Given the description of an element on the screen output the (x, y) to click on. 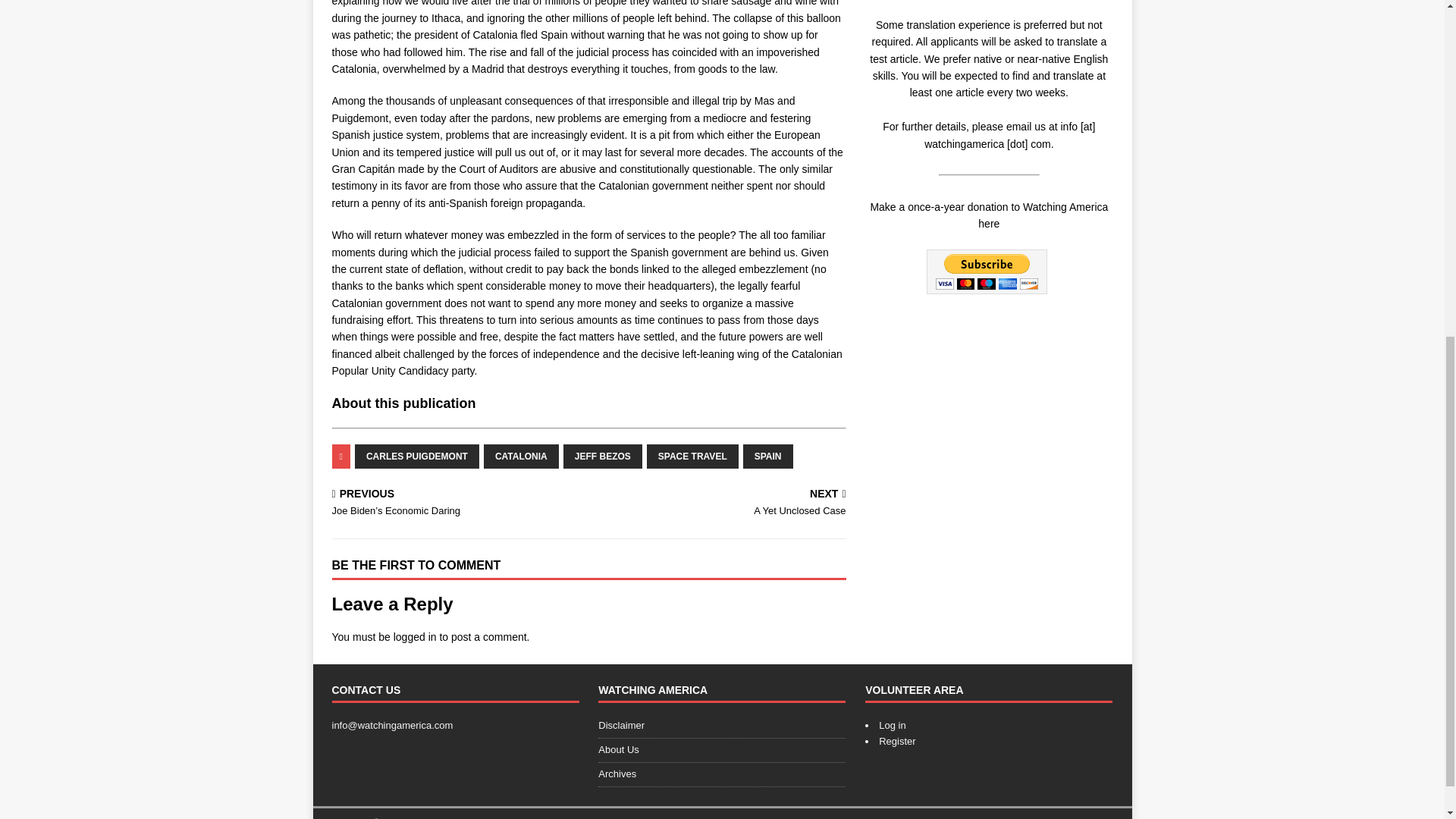
SPAIN (720, 503)
SPACE TRAVEL (767, 456)
logged in (692, 456)
JEFF BEZOS (414, 636)
CARLES PUIGDEMONT (602, 456)
CATALONIA (417, 456)
